Given the description of an element on the screen output the (x, y) to click on. 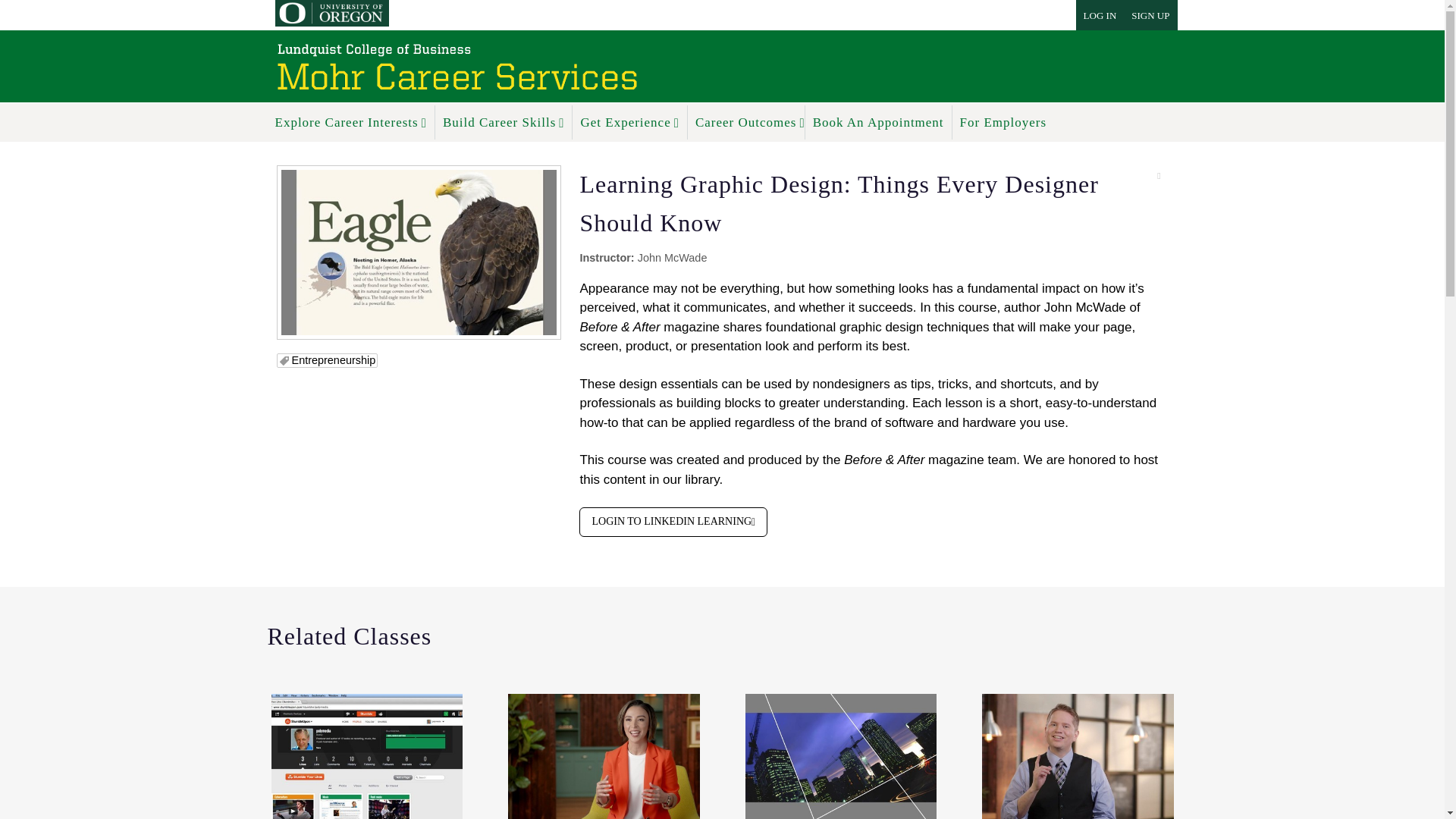
Explore Career Interests (349, 122)
SIGN UP (1150, 15)
Get Experience (628, 122)
Submit Search (53, 14)
For Employers (1003, 122)
Book An Appointment (878, 122)
Career Outcomes (741, 122)
LOG IN (1099, 15)
Sign up for an account (1150, 15)
Build Career Skills (503, 122)
